Given the description of an element on the screen output the (x, y) to click on. 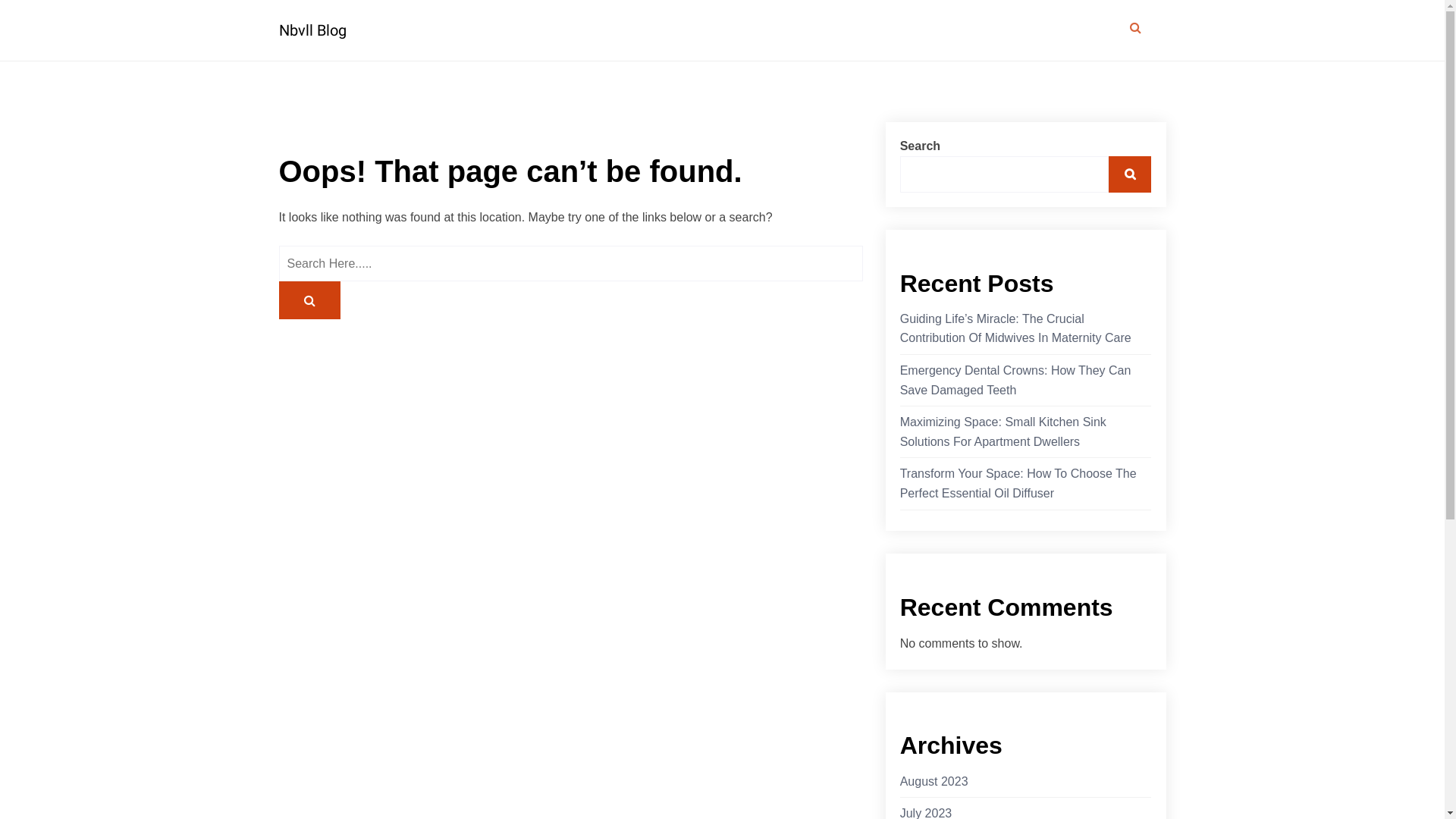
Emergency Dental Crowns: How They Can Save Damaged Teeth Element type: text (1025, 379)
Search Element type: text (1129, 174)
Nbvll Blog Element type: text (381, 30)
August 2023 Element type: text (934, 781)
